Given the description of an element on the screen output the (x, y) to click on. 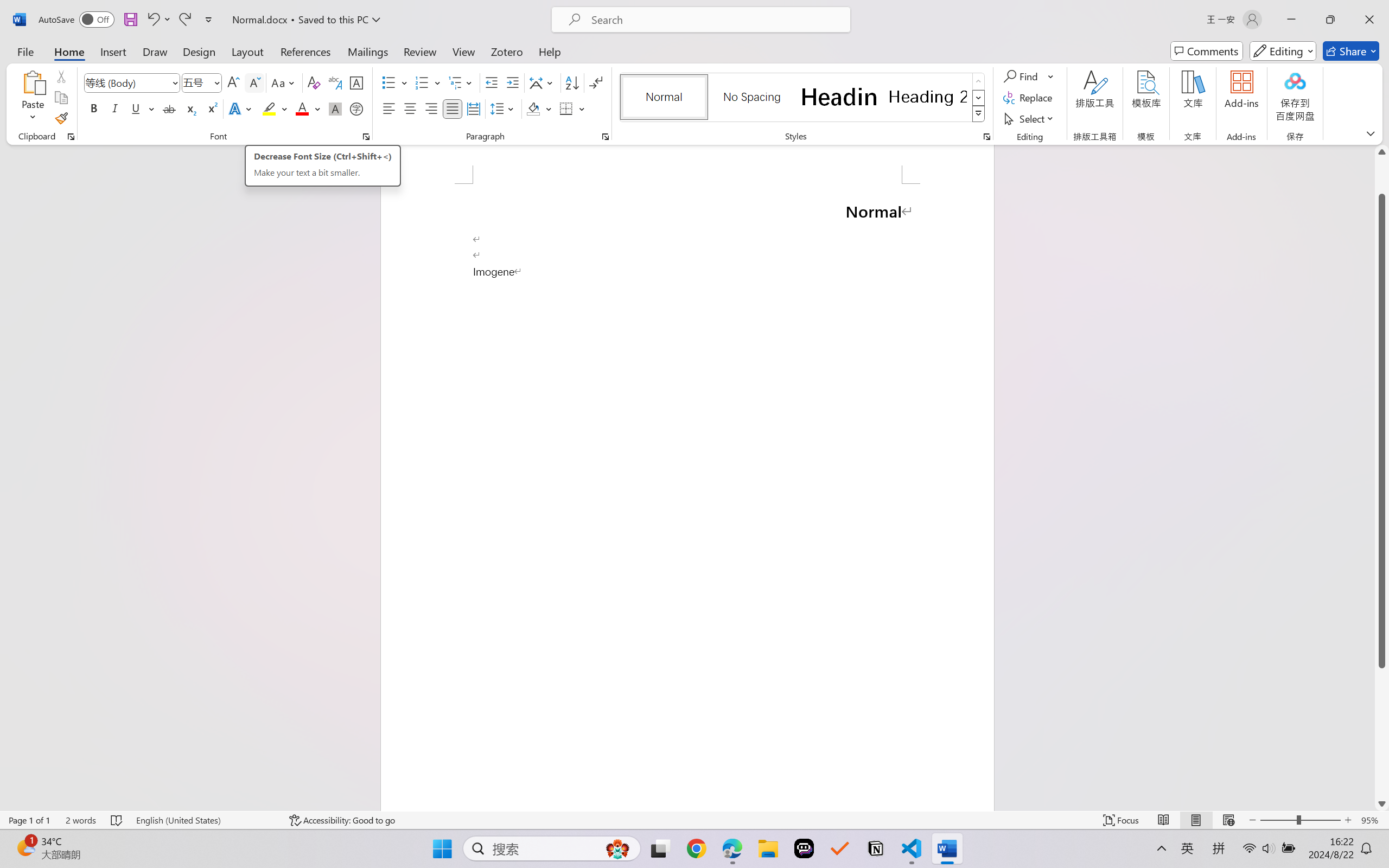
Row Down (978, 97)
Heading 1 (839, 96)
Mode (1283, 50)
Zoom 95% (1372, 819)
Text Highlight Color Yellow (269, 108)
Bold (94, 108)
